Given the description of an element on the screen output the (x, y) to click on. 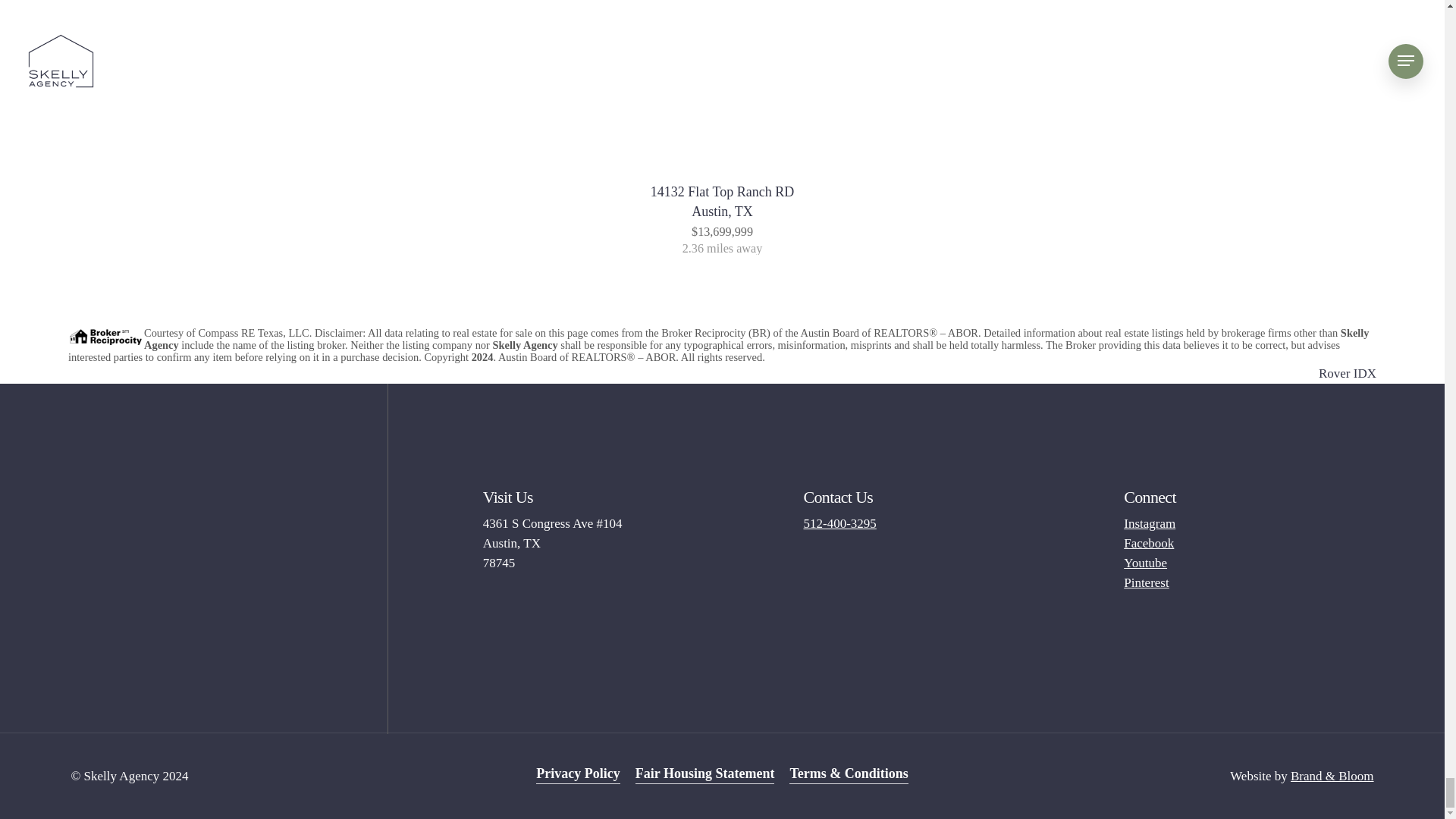
512-400-3295 (839, 523)
Rover IDX 3.0.0 (1347, 373)
Privacy Policy (577, 772)
14132 Flat Top Ranch RD (721, 201)
Fair Housing Statement (704, 772)
Facebook (1148, 543)
Rover IDX (1347, 373)
Pinterest (1146, 582)
Youtube (721, 201)
